Given the description of an element on the screen output the (x, y) to click on. 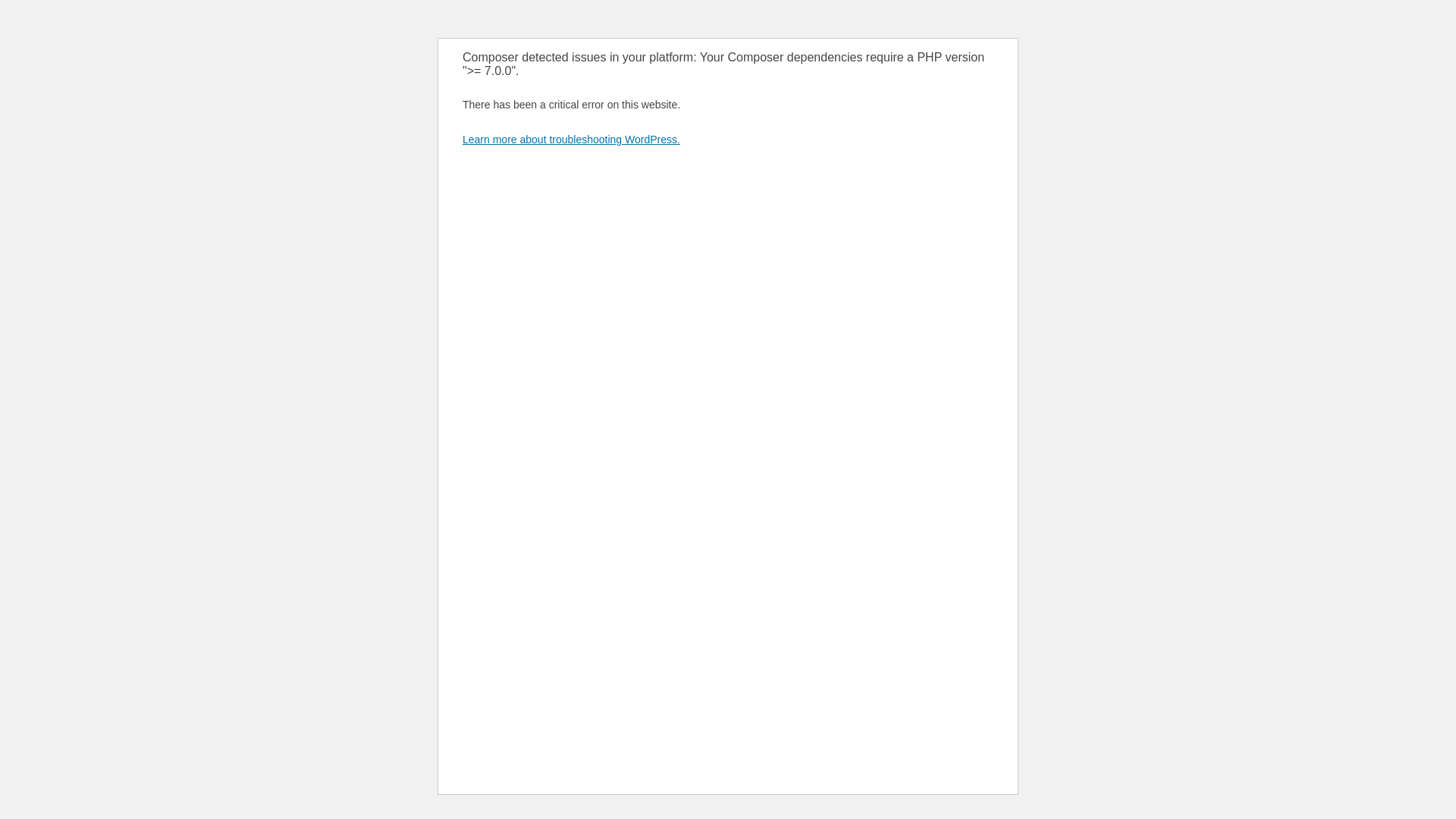
Learn more about troubleshooting WordPress. Element type: text (571, 139)
